Given the description of an element on the screen output the (x, y) to click on. 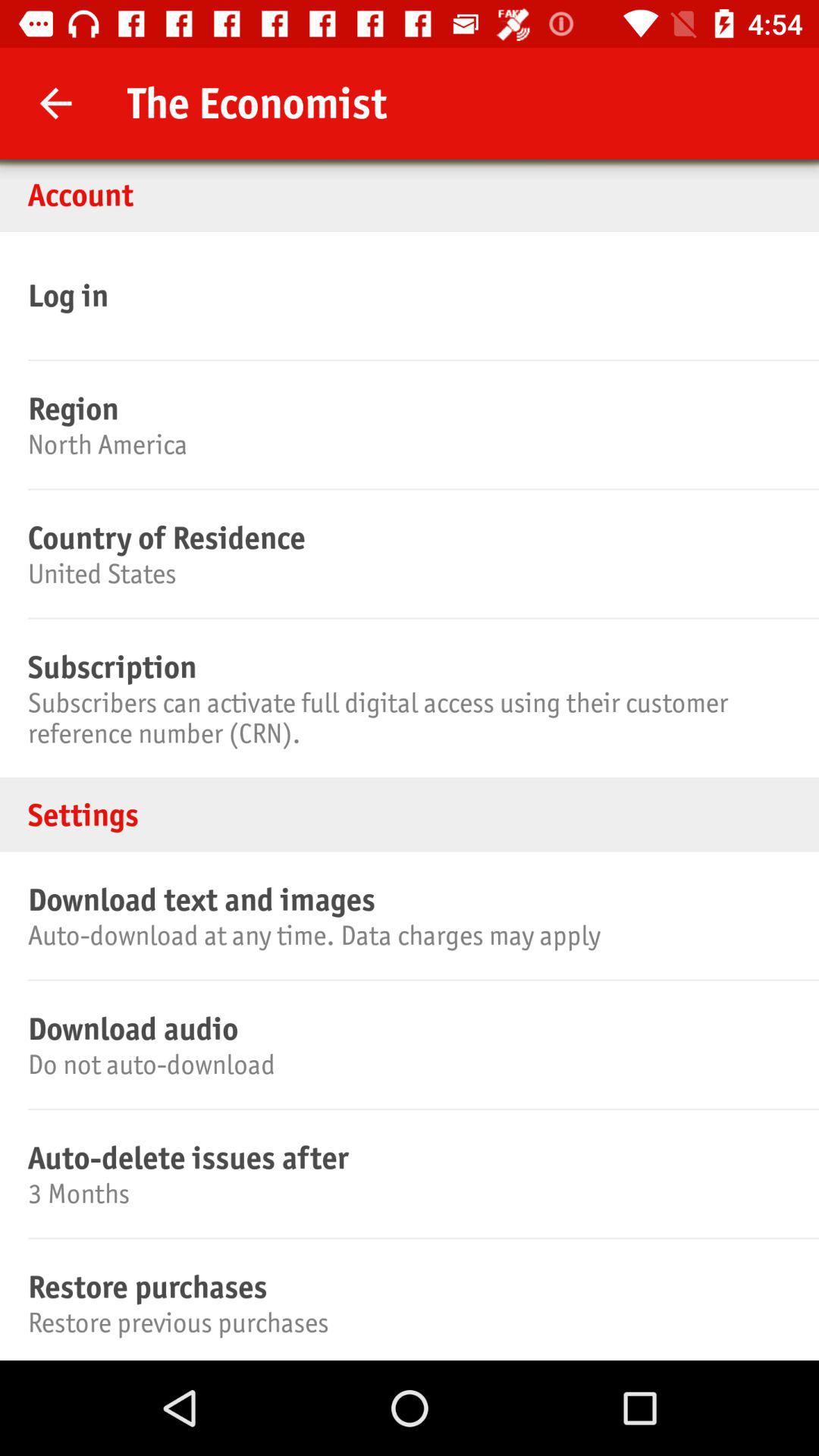
turn on the icon above download text and (409, 814)
